Given the description of an element on the screen output the (x, y) to click on. 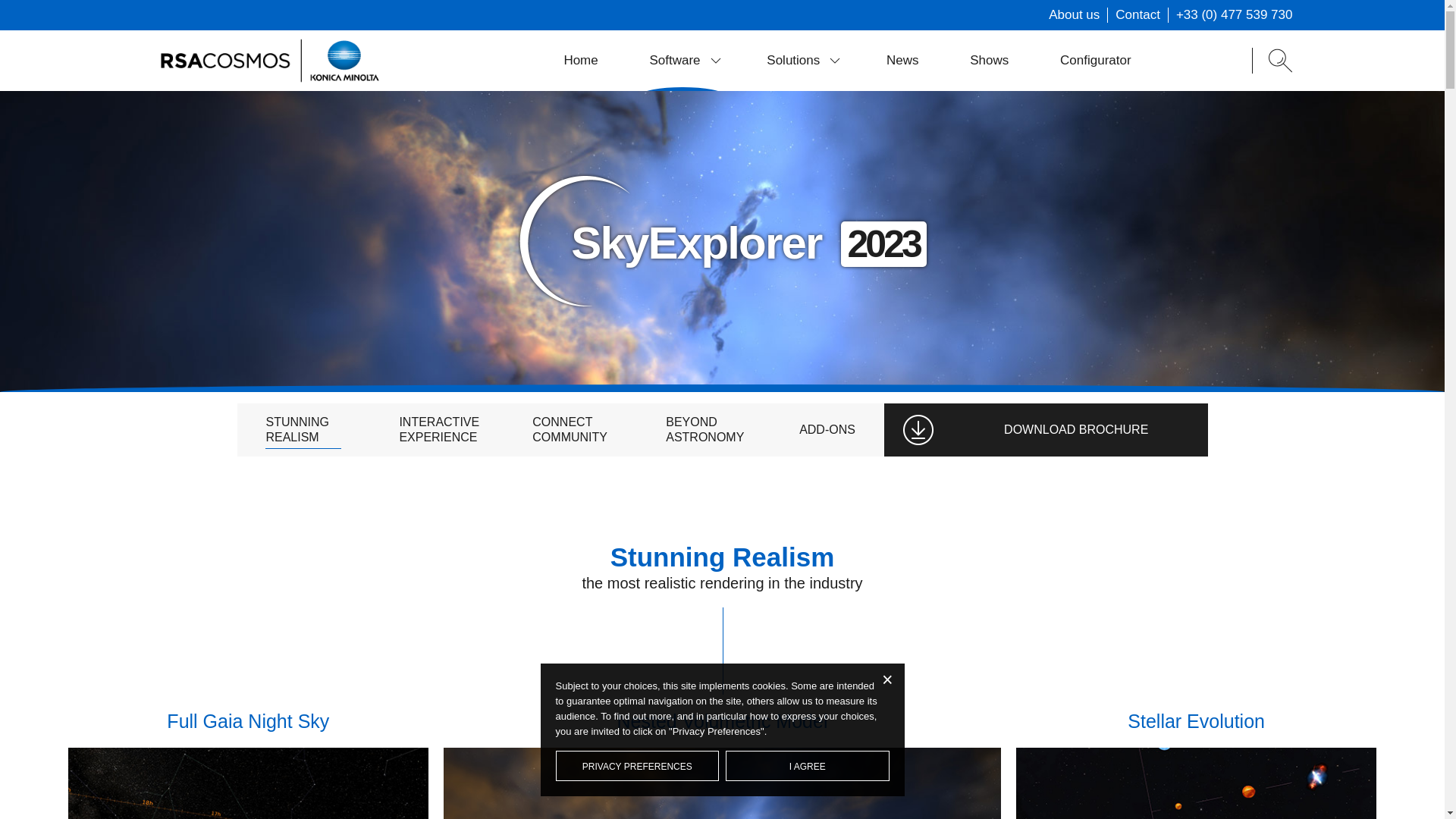
Solutions (800, 60)
RSA Cosmos (269, 60)
Connect community (570, 429)
STUNNING REALISM (302, 429)
Add-ons (827, 429)
About us (1074, 14)
Configurator (1095, 60)
Beyond Astronomy (703, 429)
Download Brochure (1075, 429)
Contact (1138, 14)
Stunning realism (302, 429)
Software (682, 60)
Interactive experience (436, 429)
